Given the description of an element on the screen output the (x, y) to click on. 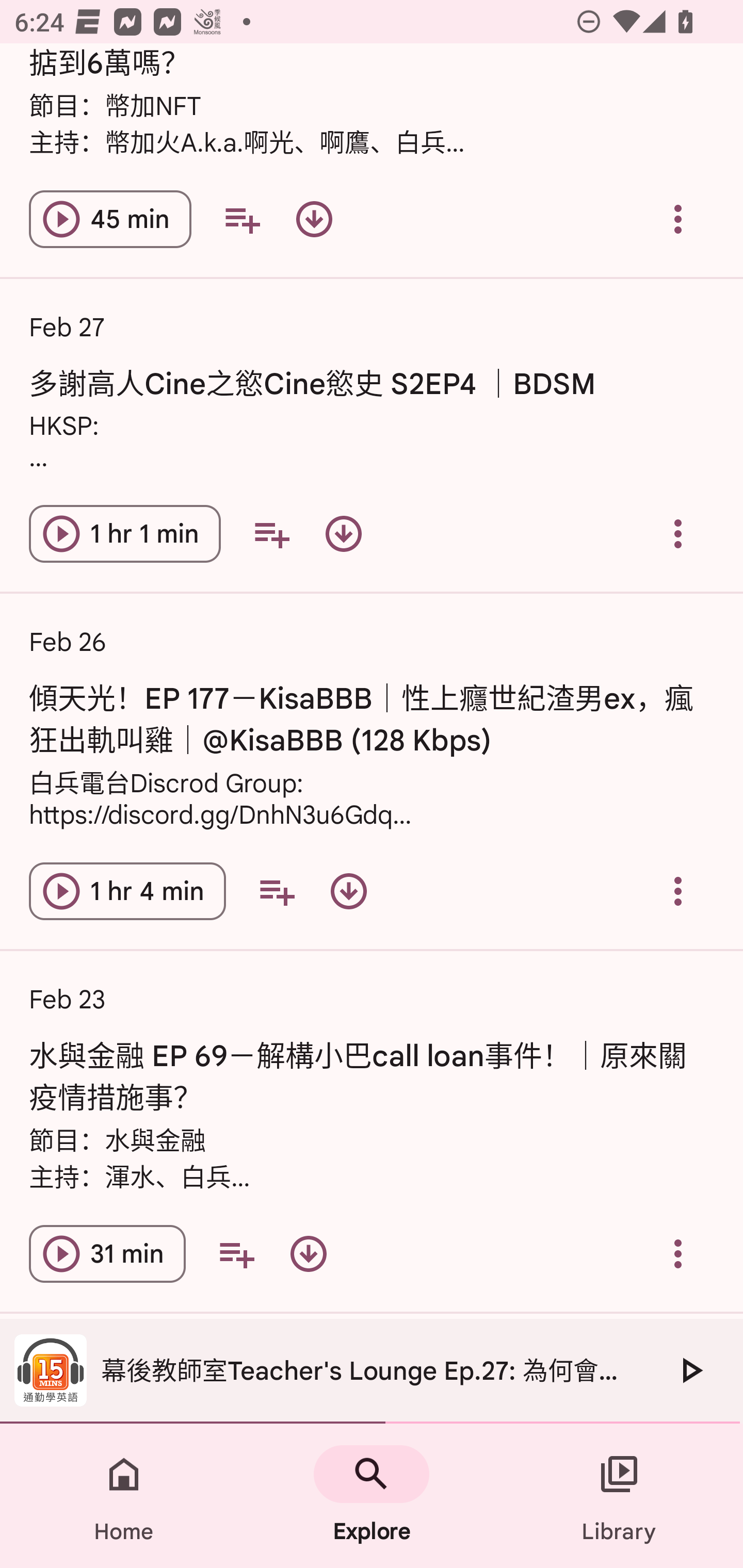
Add to your queue (241, 218)
Download episode (313, 218)
Overflow menu (677, 218)
Add to your queue (271, 533)
Download episode (343, 533)
Overflow menu (677, 533)
Add to your queue (276, 891)
Download episode (348, 891)
Overflow menu (677, 891)
Add to your queue (235, 1253)
Download episode (308, 1253)
Overflow menu (677, 1253)
Play (690, 1370)
Home (123, 1495)
Library (619, 1495)
